Given the description of an element on the screen output the (x, y) to click on. 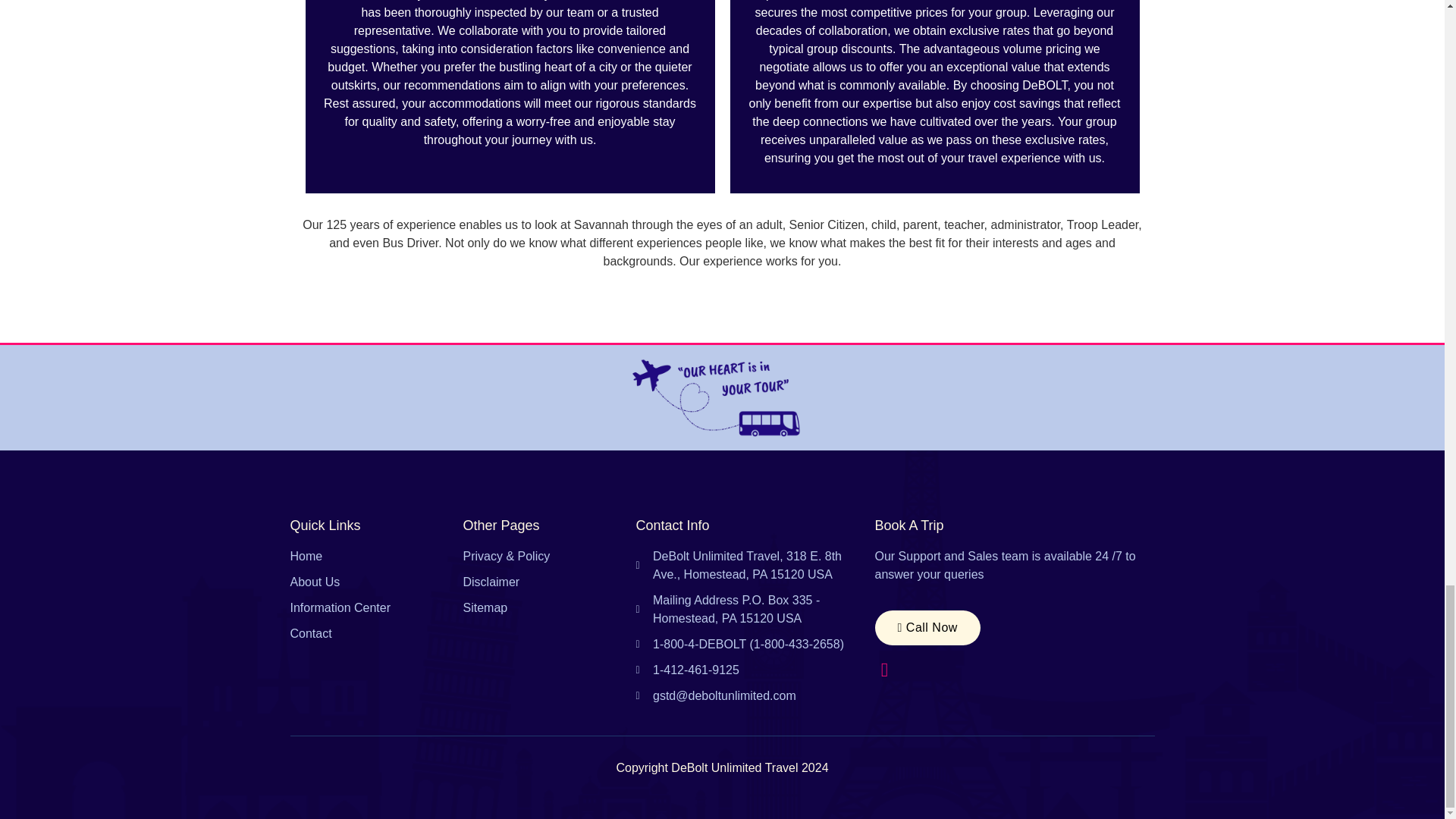
Information Center (376, 607)
Contact (376, 633)
Disclaimer (548, 582)
Home (376, 556)
About Us (376, 582)
